Given the description of an element on the screen output the (x, y) to click on. 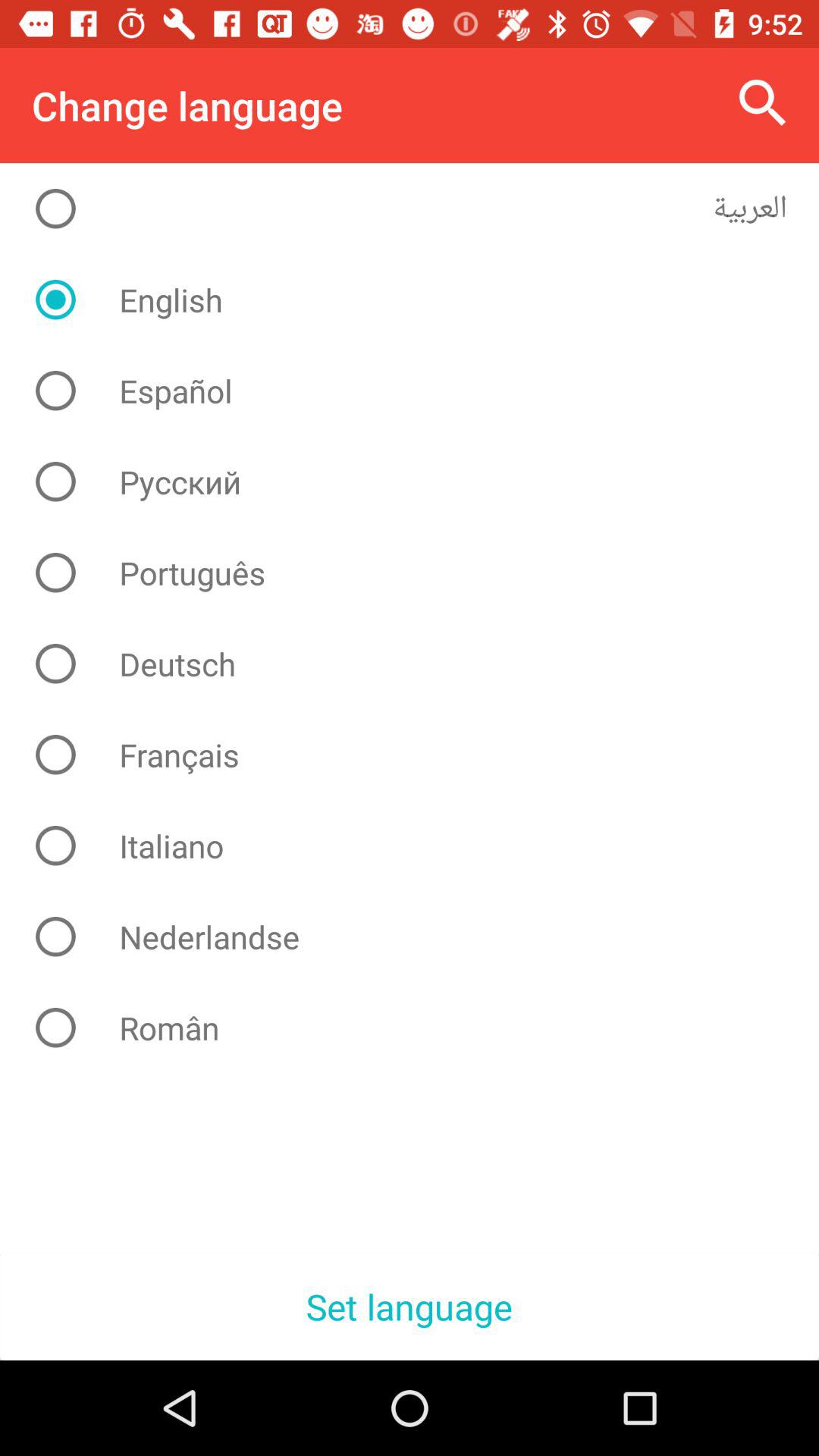
turn off item to the right of change language icon (763, 103)
